Given the description of an element on the screen output the (x, y) to click on. 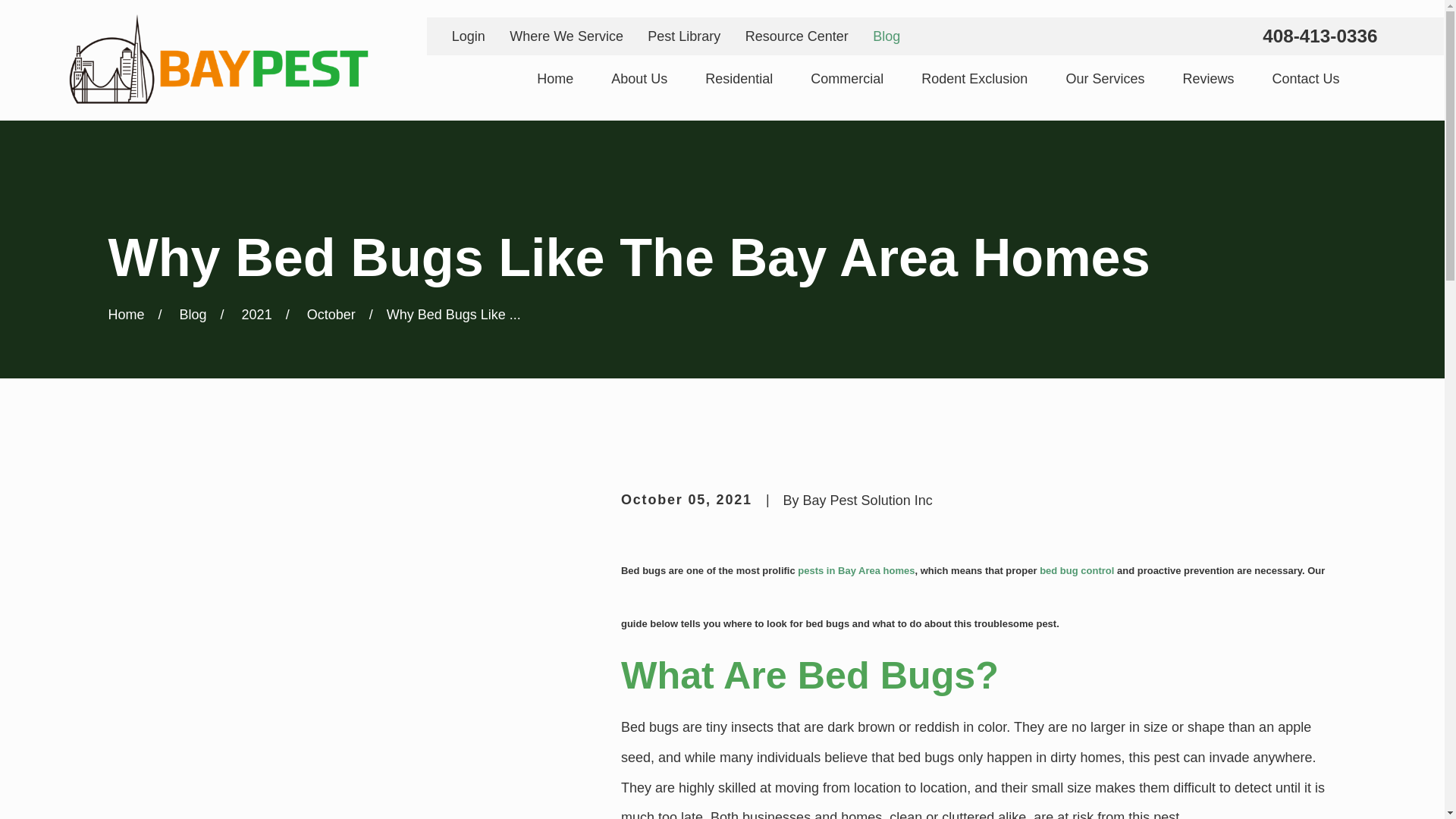
Rodent Exclusion (974, 78)
Go Home (125, 314)
Commercial (846, 78)
Our Services (1104, 78)
Login (467, 36)
408-413-0336 (1319, 35)
Blog (885, 36)
Home (555, 78)
Where We Service (566, 36)
Residential (738, 78)
